Given the description of an element on the screen output the (x, y) to click on. 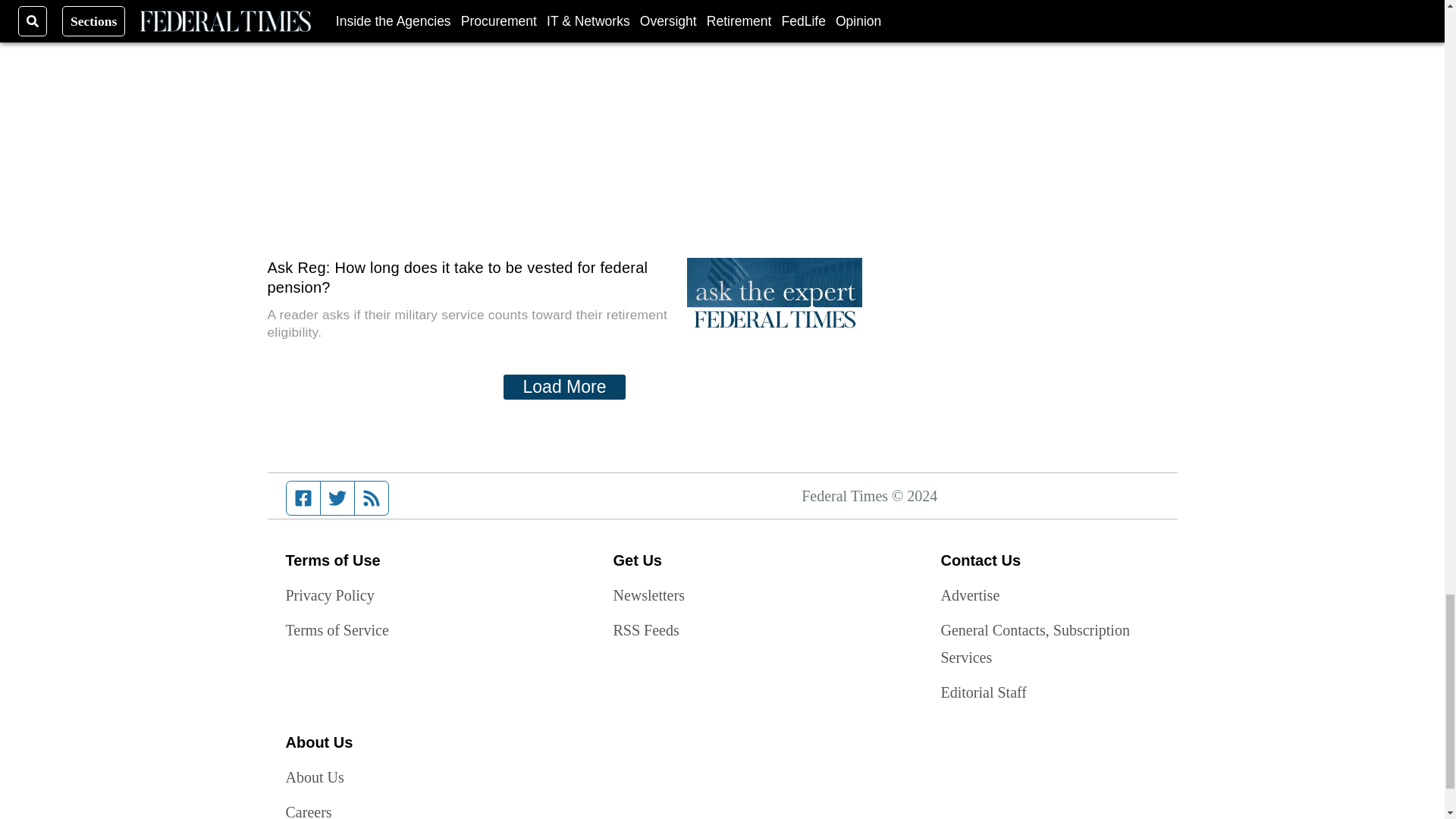
Twitter feed (336, 498)
RSS feed (371, 498)
Facebook page (303, 498)
